Given the description of an element on the screen output the (x, y) to click on. 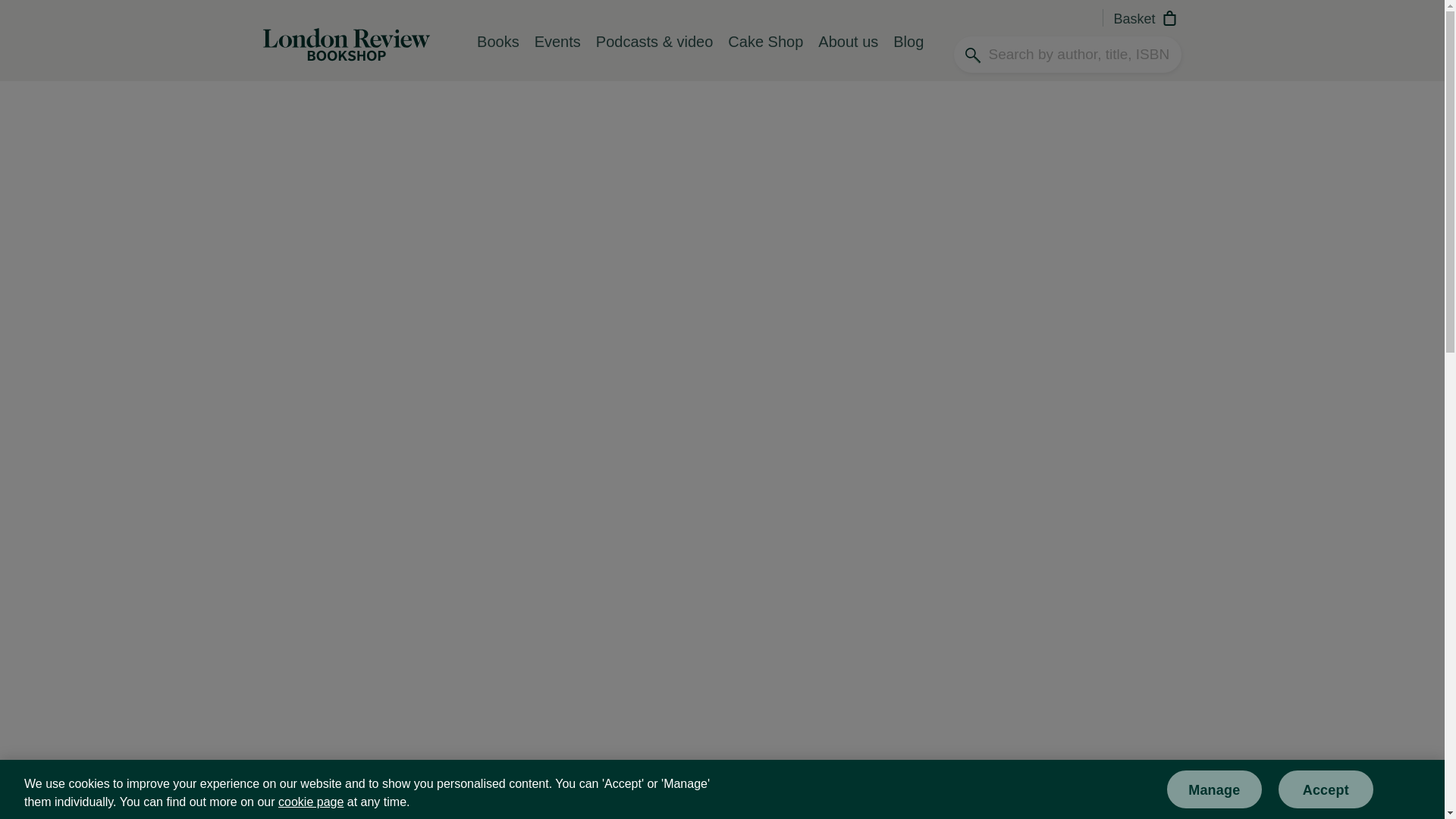
About us (847, 54)
Cake Shop (765, 54)
Submit (1234, 40)
Basket (1146, 19)
Books (497, 54)
Events (557, 54)
London Review Bookshop (345, 42)
